Given the description of an element on the screen output the (x, y) to click on. 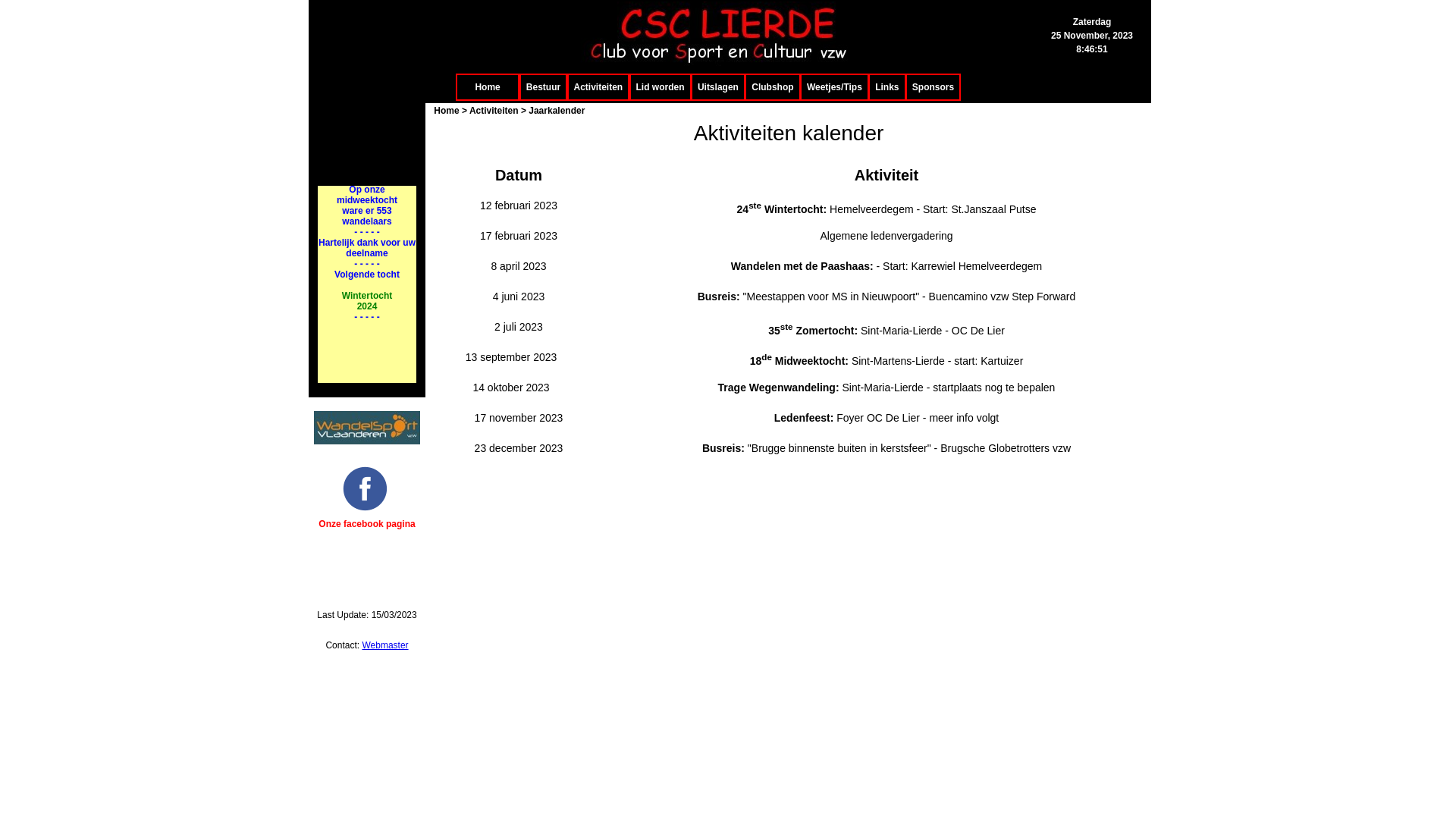
     Home      Element type: text (487, 86)
Clubshop Element type: text (772, 86)
Uitslagen Element type: text (717, 86)
Sponsors Element type: text (932, 86)
Webmaster Element type: text (384, 645)
Bestuur Element type: text (543, 86)
Activiteiten Element type: text (598, 86)
Lid worden Element type: text (660, 86)
Weetjes/Tips Element type: text (834, 86)
Links Element type: text (886, 86)
